Given the description of an element on the screen output the (x, y) to click on. 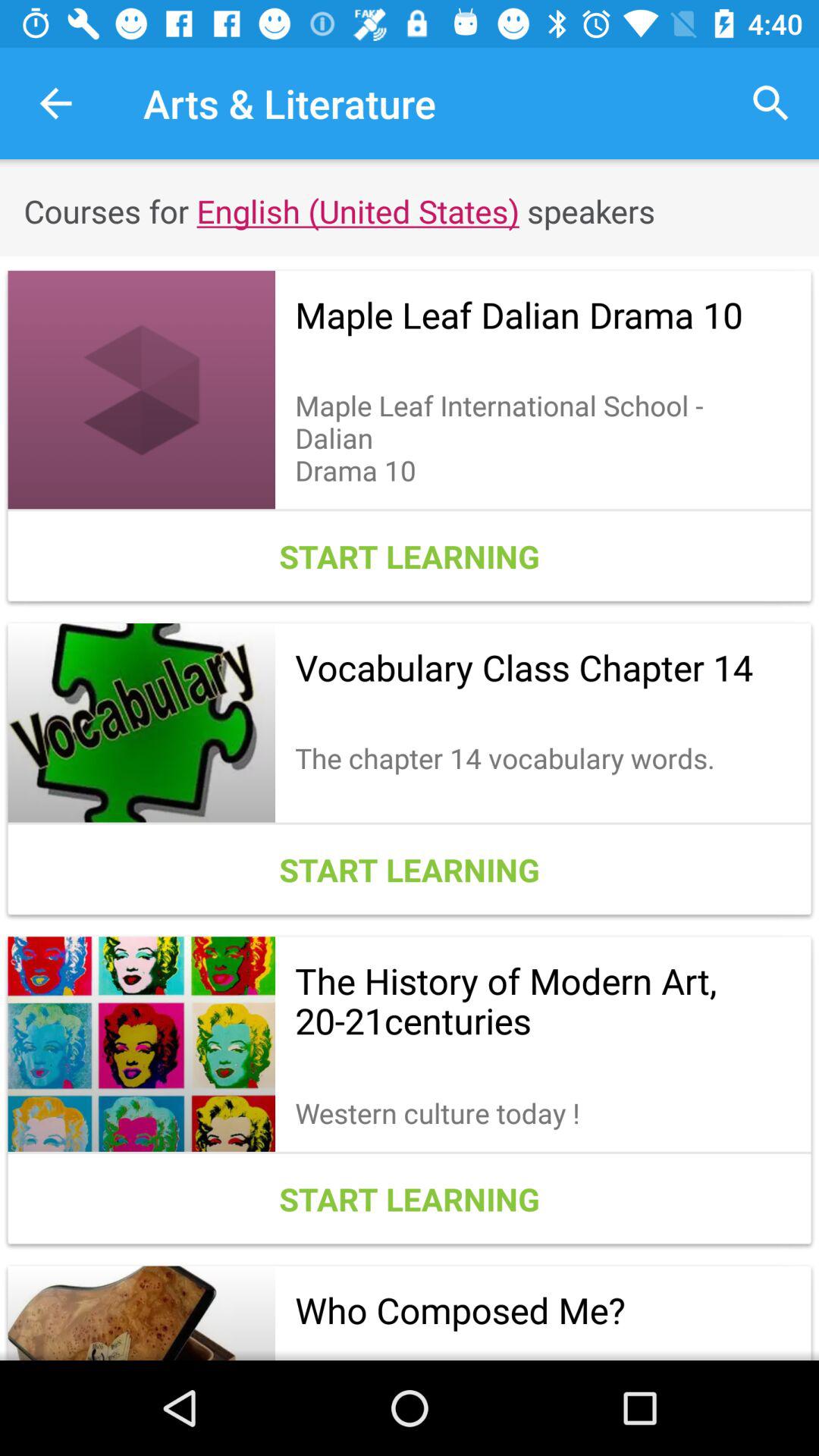
swipe to the courses for english item (409, 210)
